Given the description of an element on the screen output the (x, y) to click on. 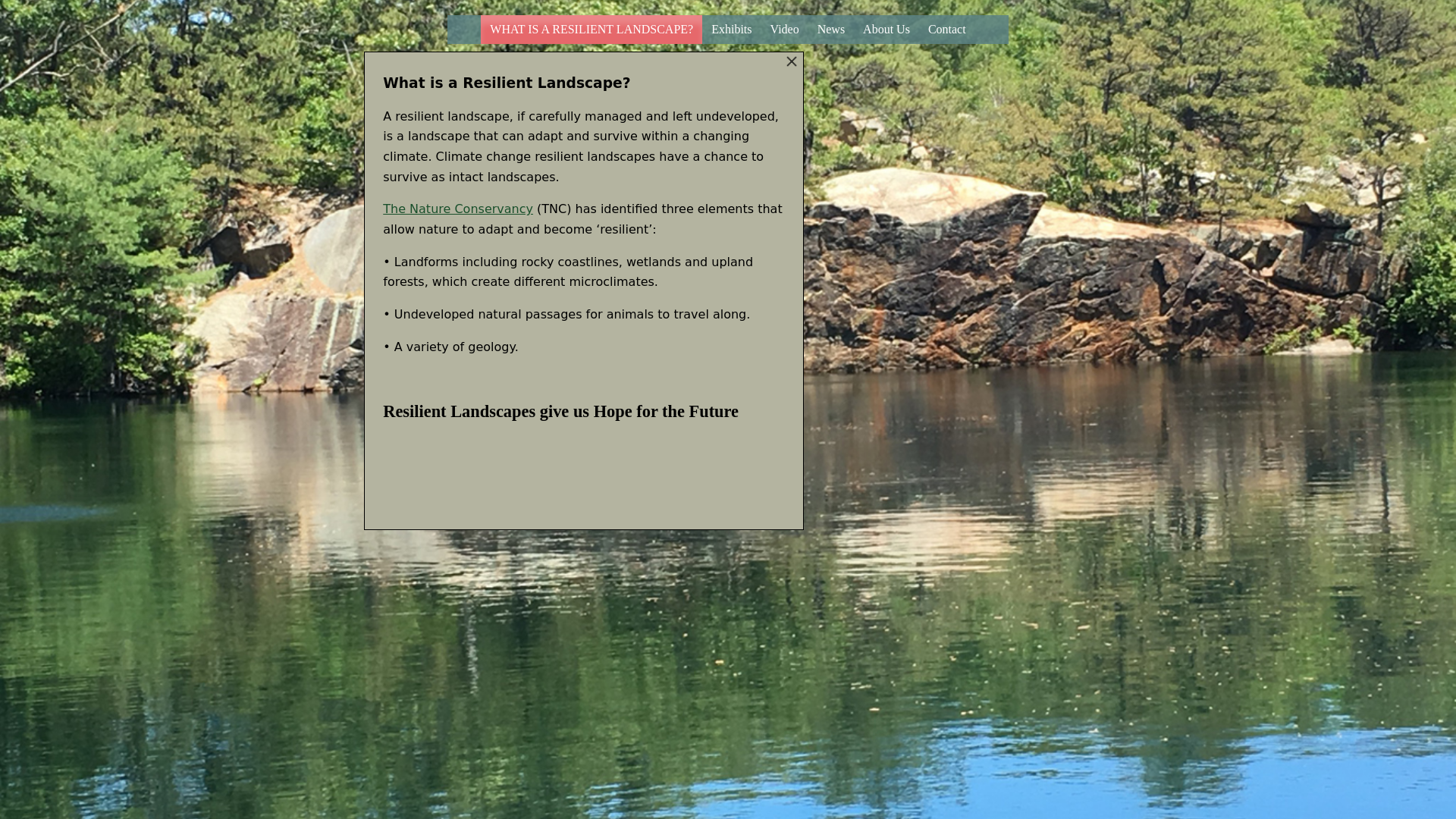
Clos (792, 61)
News (830, 29)
The Nature Conservancy (457, 208)
Contact (946, 29)
WHAT IS A RESILIENT LANDSCAPE? (590, 29)
Video (784, 29)
About Us (885, 29)
Exhibits (730, 29)
